Given the description of an element on the screen output the (x, y) to click on. 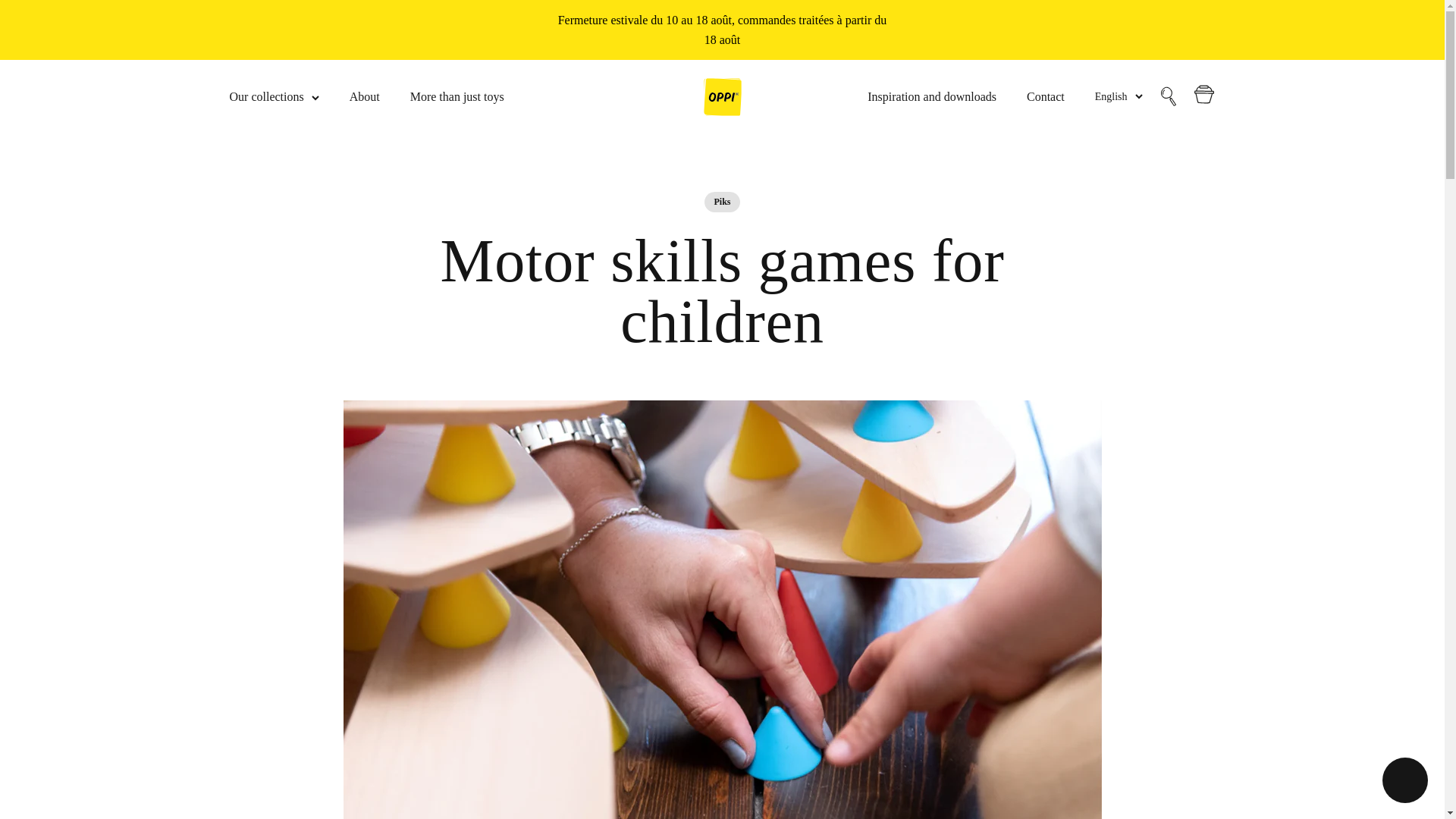
Inspiration and downloads (931, 96)
Shopify online store chat (1404, 781)
English (1118, 96)
OPPI (722, 96)
About (364, 96)
More than just toys (456, 96)
Piks (721, 201)
Contact (1045, 96)
